Given the description of an element on the screen output the (x, y) to click on. 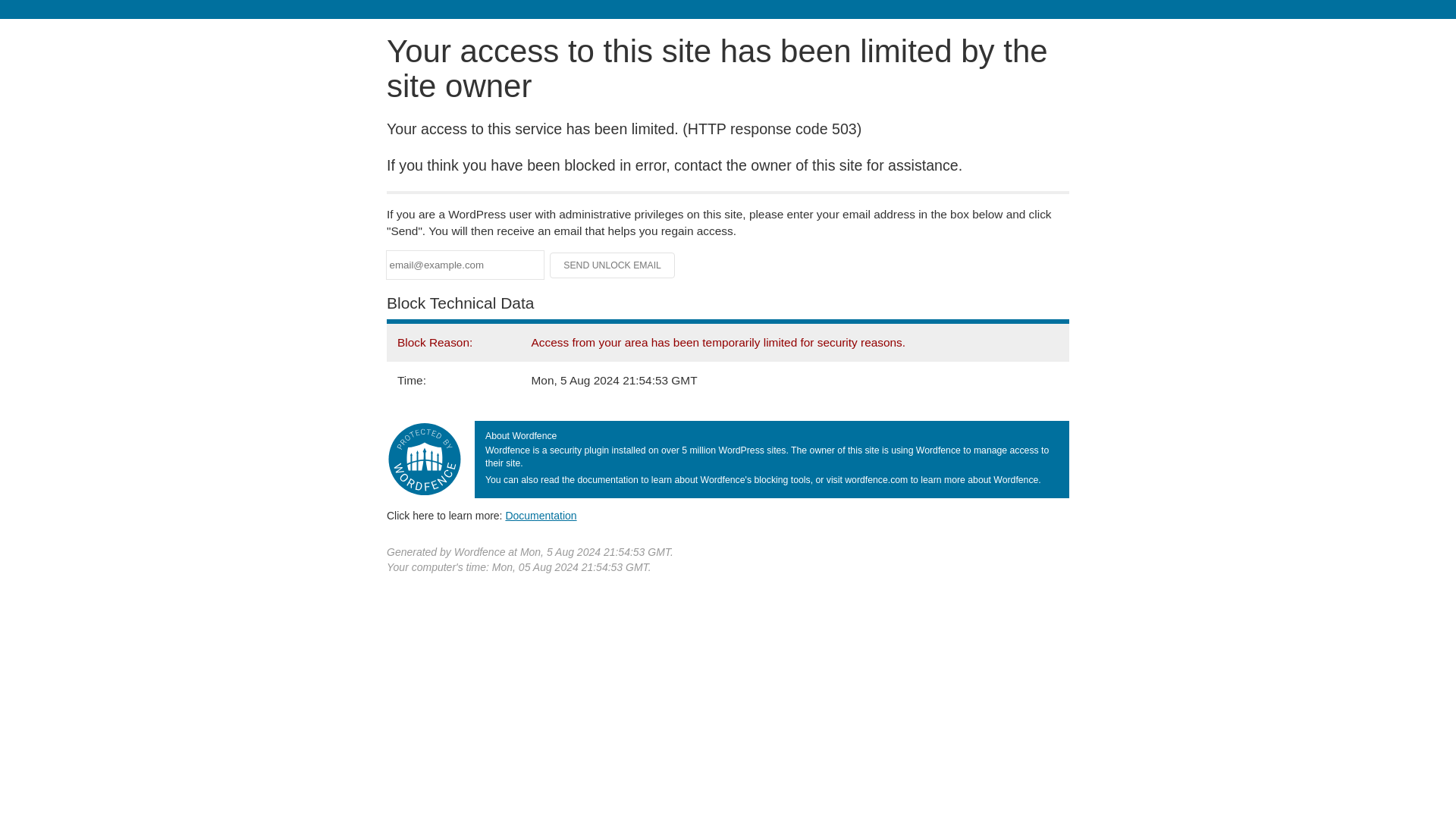
Documentation (540, 515)
Send Unlock Email (612, 265)
Send Unlock Email (612, 265)
